Given the description of an element on the screen output the (x, y) to click on. 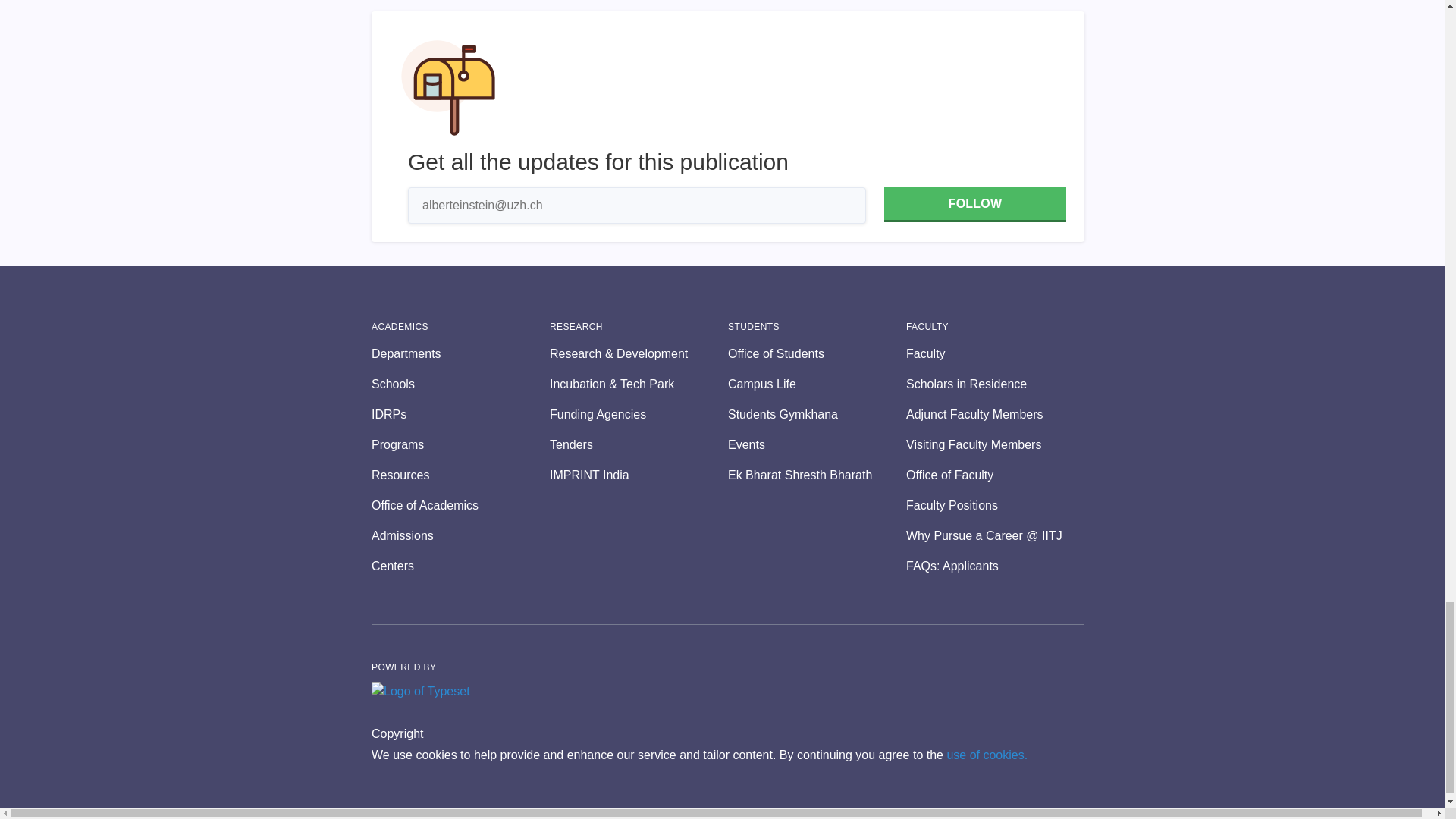
IMPRINT India (639, 475)
Events (816, 444)
Office of Academics (460, 505)
Schools (460, 384)
Ek Bharat Shresth Bharath (816, 475)
IDRPs (460, 414)
Campus Life (816, 384)
Subscribe form hero illustration (448, 87)
Departments (460, 353)
Office of Students (816, 353)
